Given the description of an element on the screen output the (x, y) to click on. 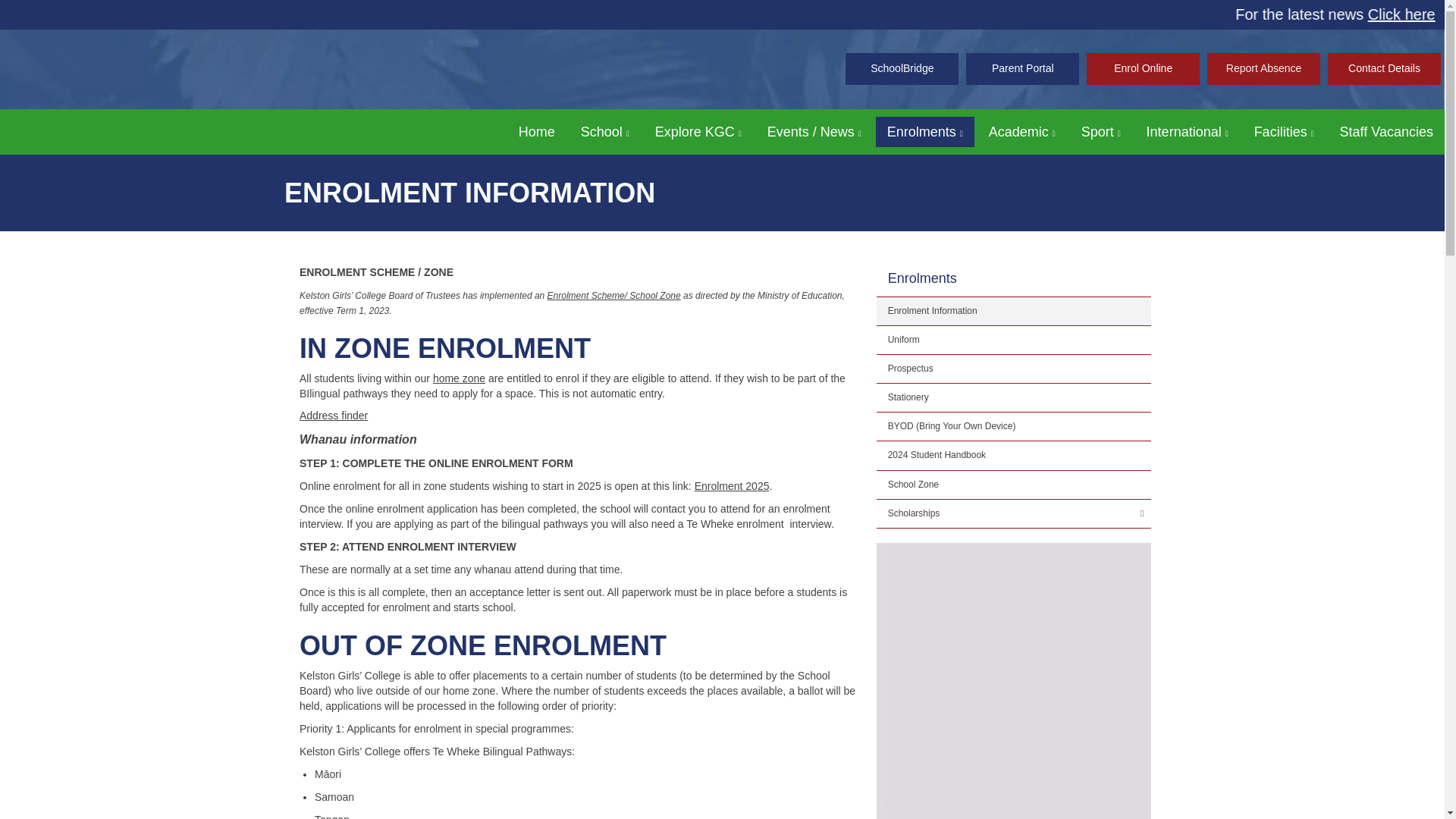
Report Absence (1263, 69)
Parent Portal (1022, 69)
Contact Details (1384, 69)
SchoolBridge (901, 69)
Enrol Online (1142, 69)
School (604, 132)
Home (536, 132)
Explore KGC (697, 132)
